Given the description of an element on the screen output the (x, y) to click on. 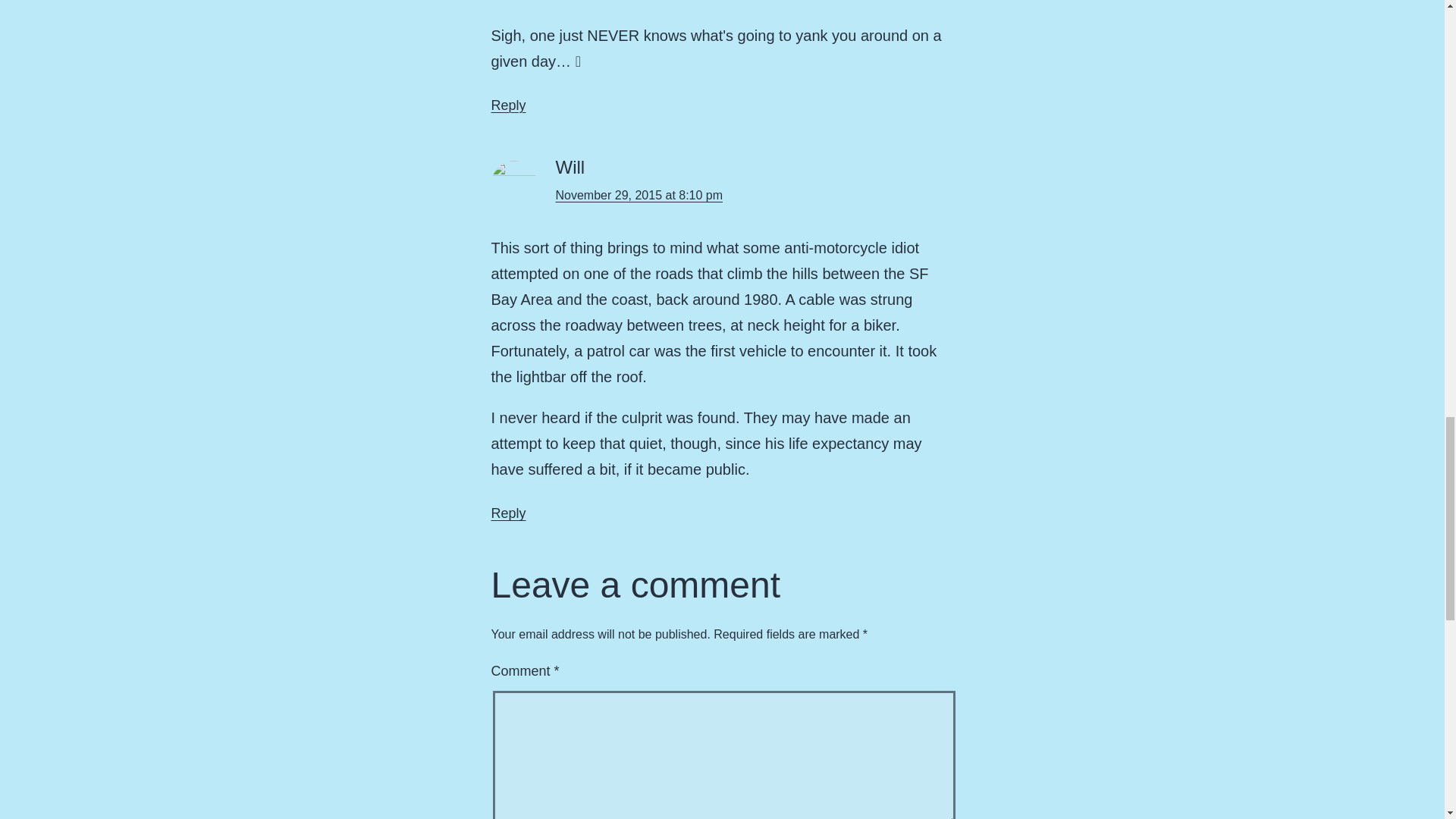
Reply (508, 105)
November 29, 2015 at 8:10 pm (638, 195)
Reply (508, 513)
